Given the description of an element on the screen output the (x, y) to click on. 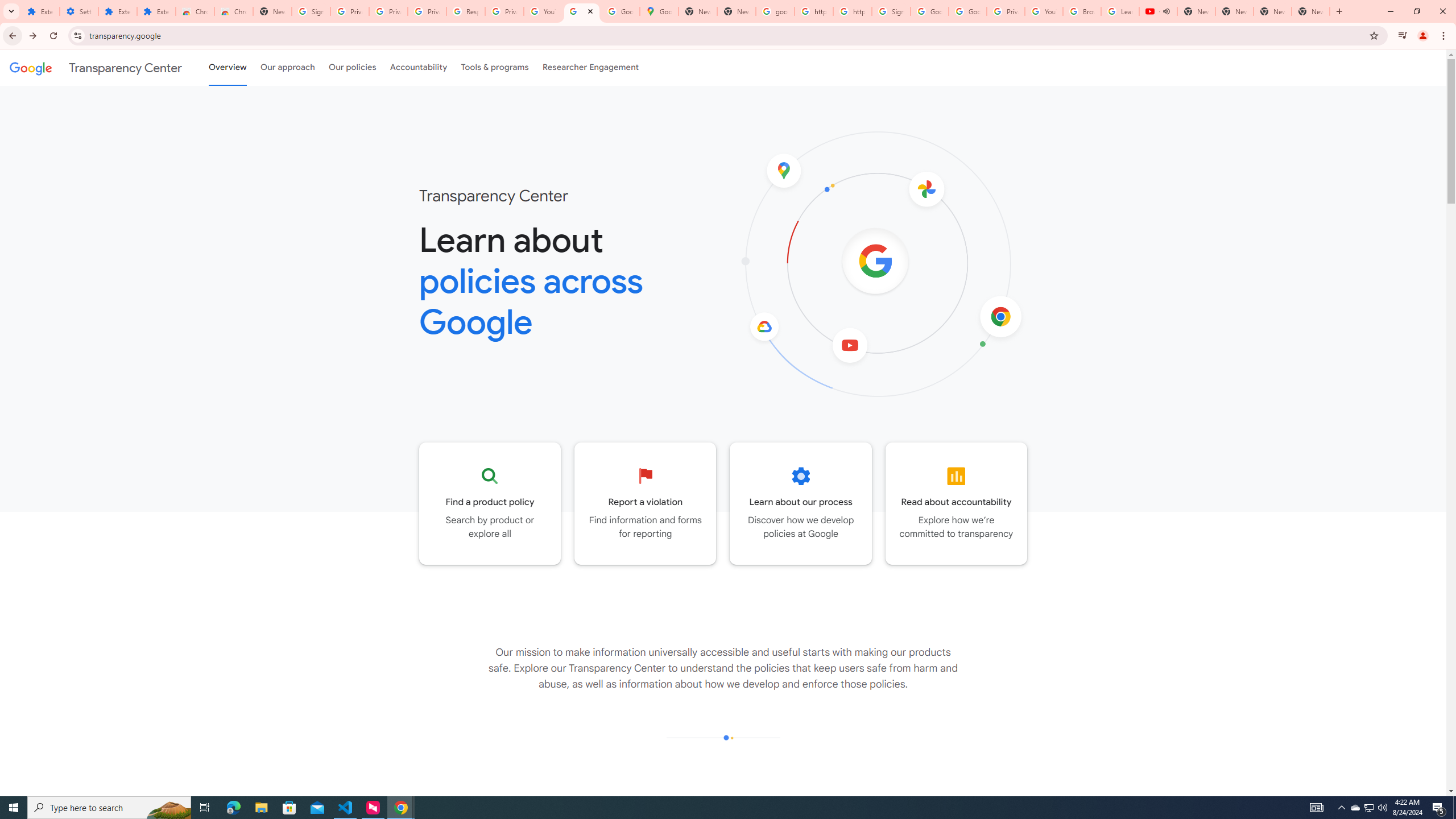
Extensions (117, 11)
Go to the Reporting and appeals page (645, 503)
Sign in - Google Accounts (890, 11)
https://scholar.google.com/ (852, 11)
https://scholar.google.com/ (813, 11)
YouTube (542, 11)
